Given the description of an element on the screen output the (x, y) to click on. 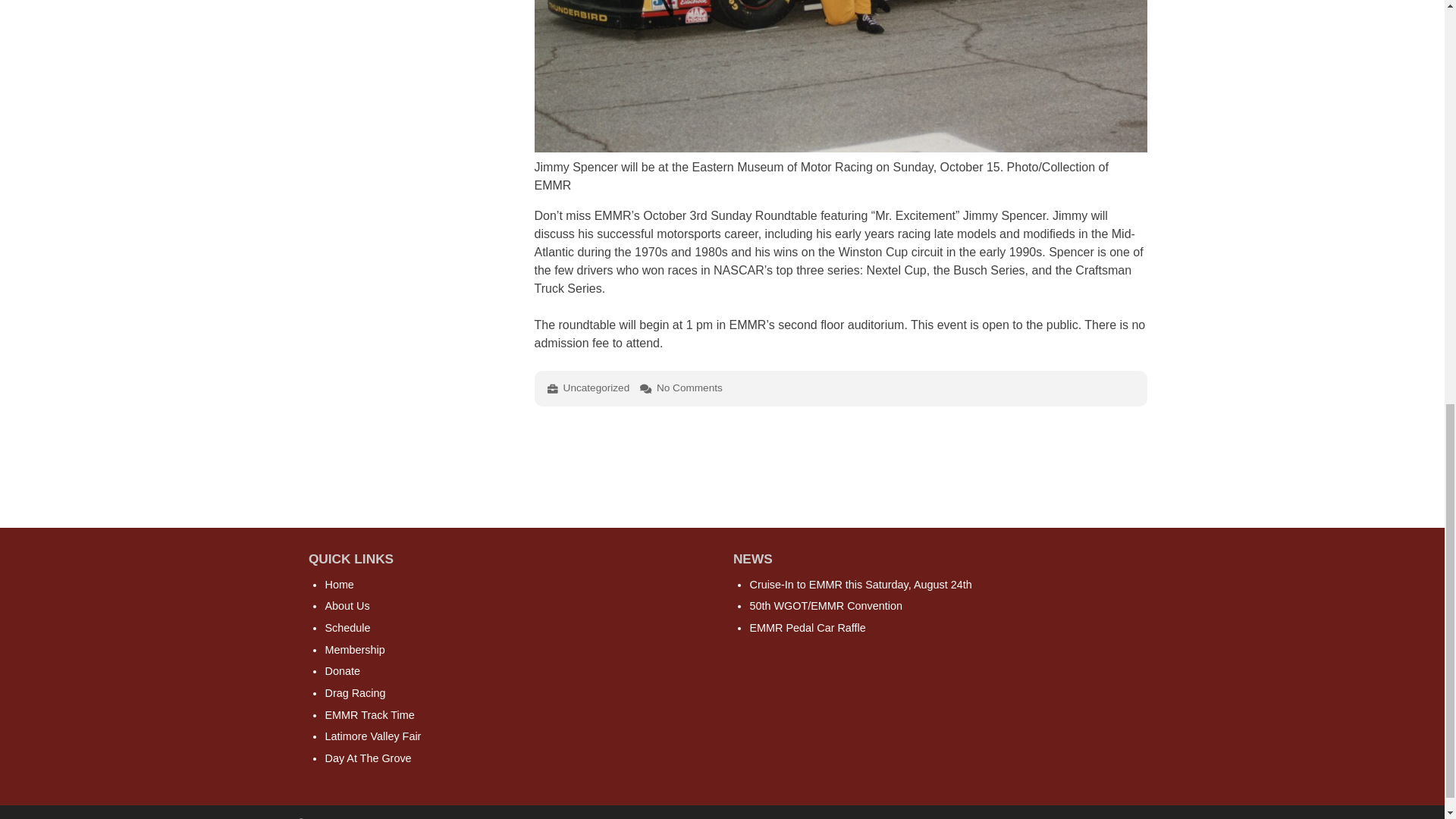
No Comments (689, 387)
Schedule (346, 627)
Membership (354, 649)
Uncategorized (596, 387)
Home (338, 584)
EMMR Track Time (368, 715)
Donate (341, 671)
Drag Racing (354, 693)
Webflare (1127, 817)
About Us (346, 605)
